Given the description of an element on the screen output the (x, y) to click on. 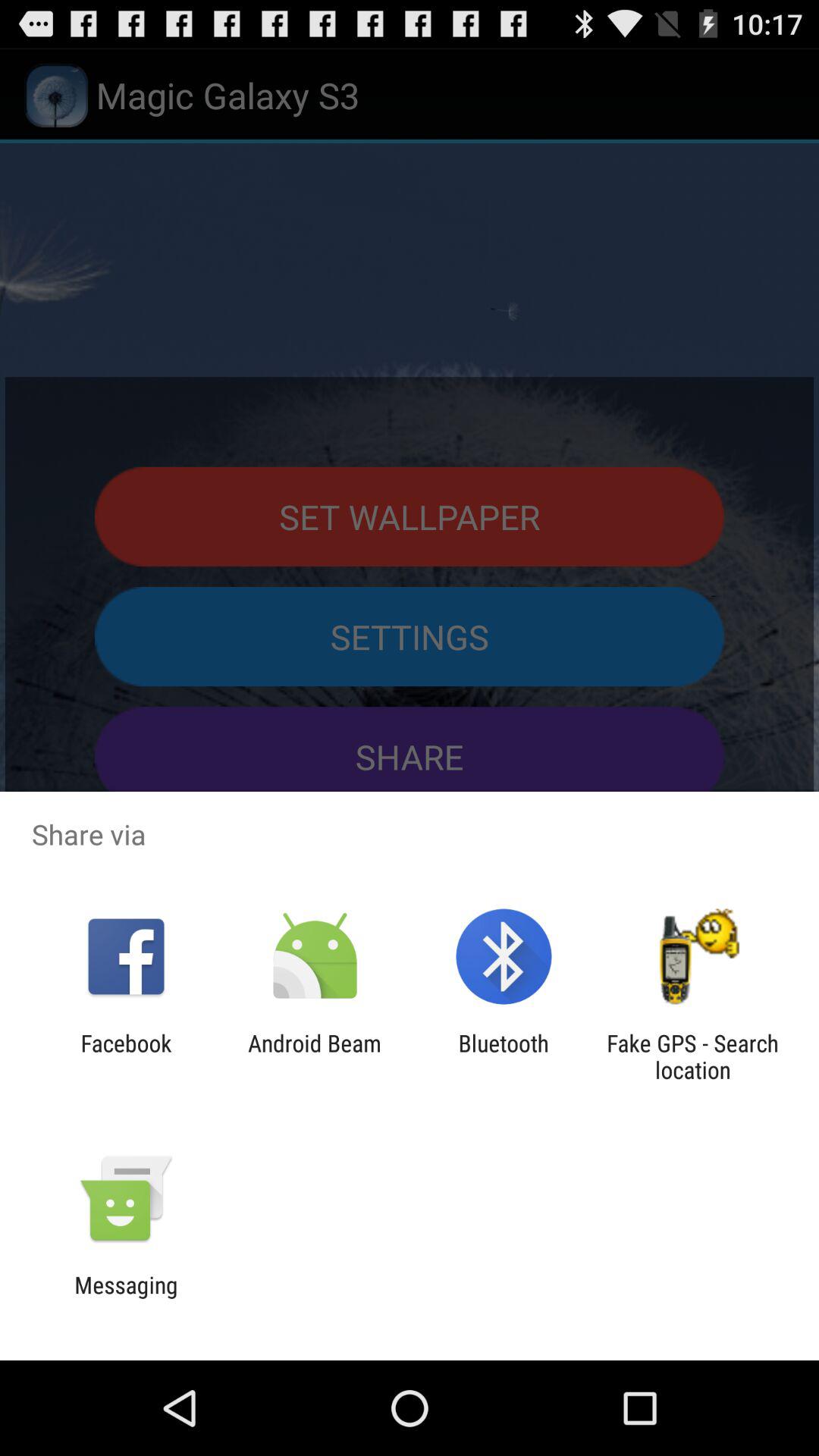
click facebook item (125, 1056)
